Given the description of an element on the screen output the (x, y) to click on. 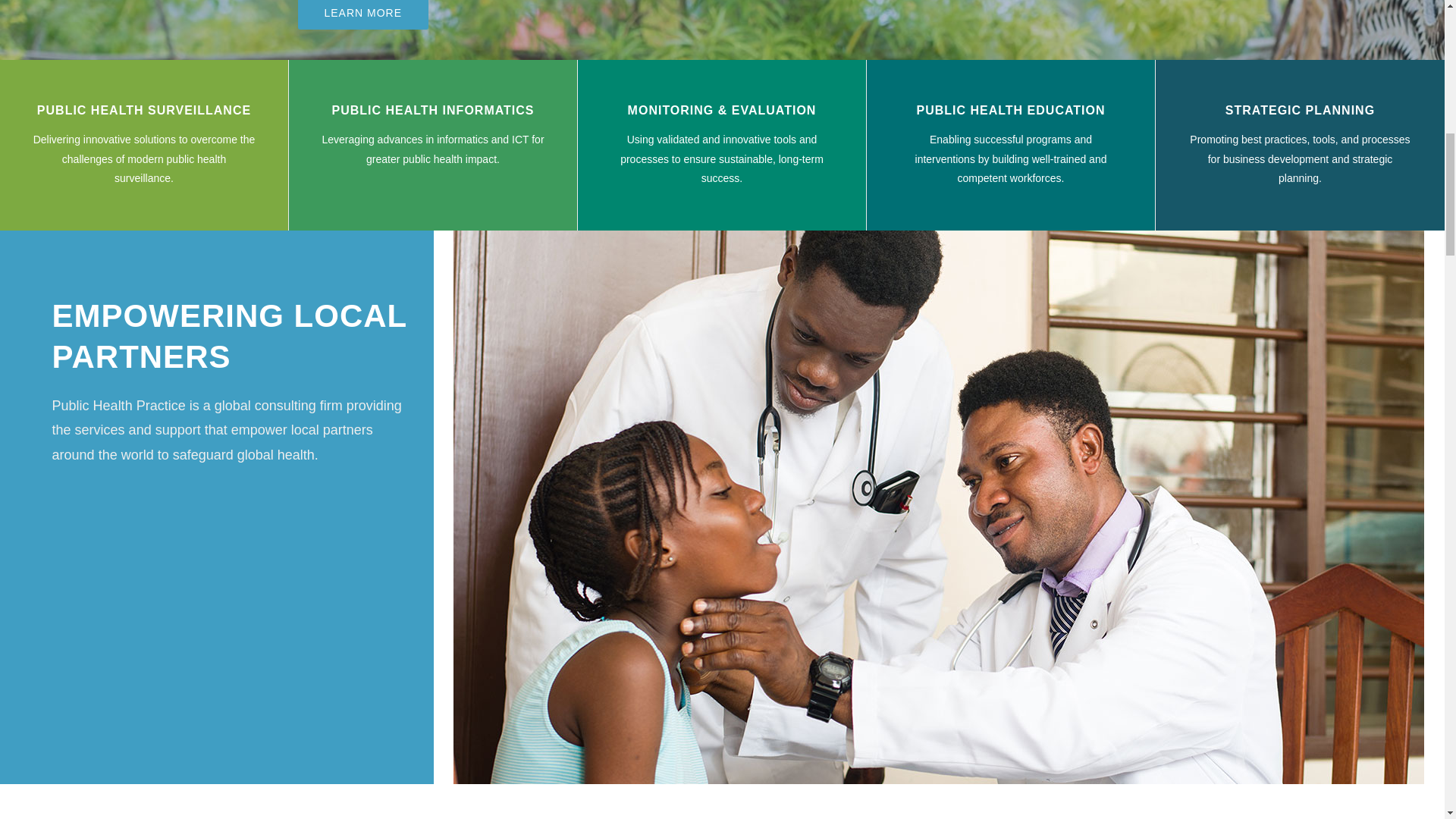
LEARN MORE (362, 14)
